Given the description of an element on the screen output the (x, y) to click on. 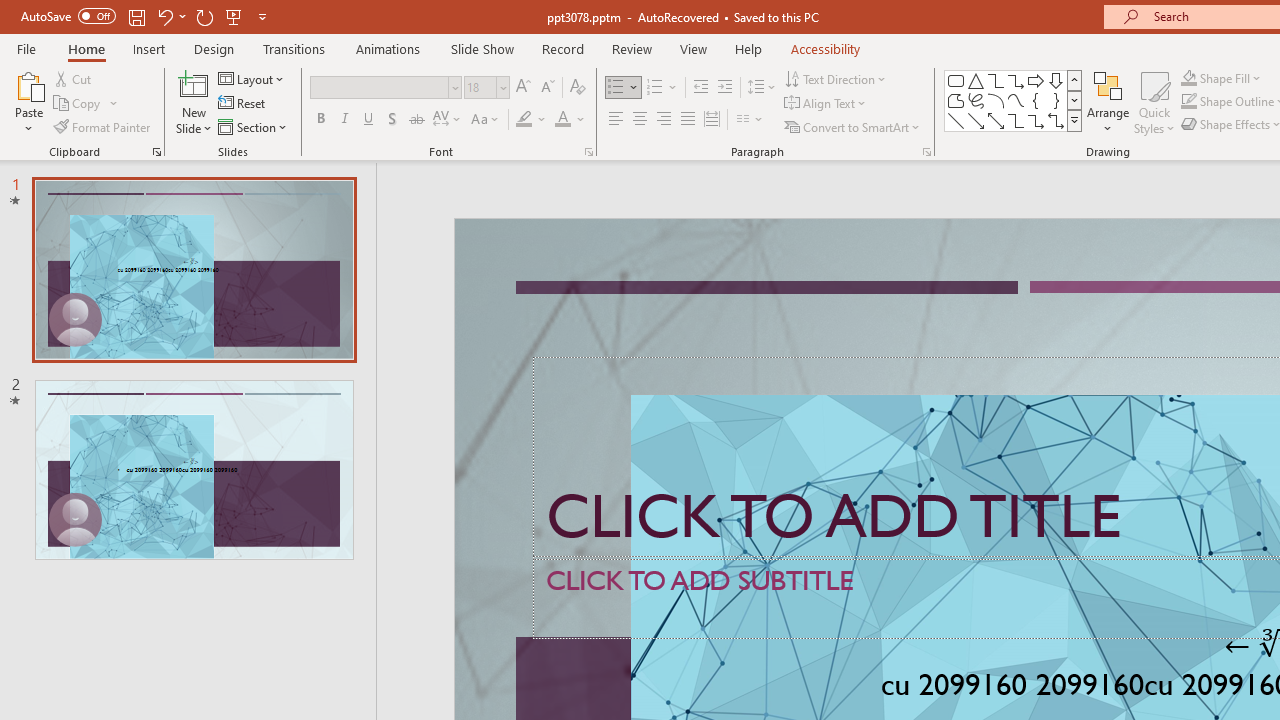
Shape Fill Dark Green, Accent 2 (1188, 78)
Line Arrow: Double (995, 120)
